Given the description of an element on the screen output the (x, y) to click on. 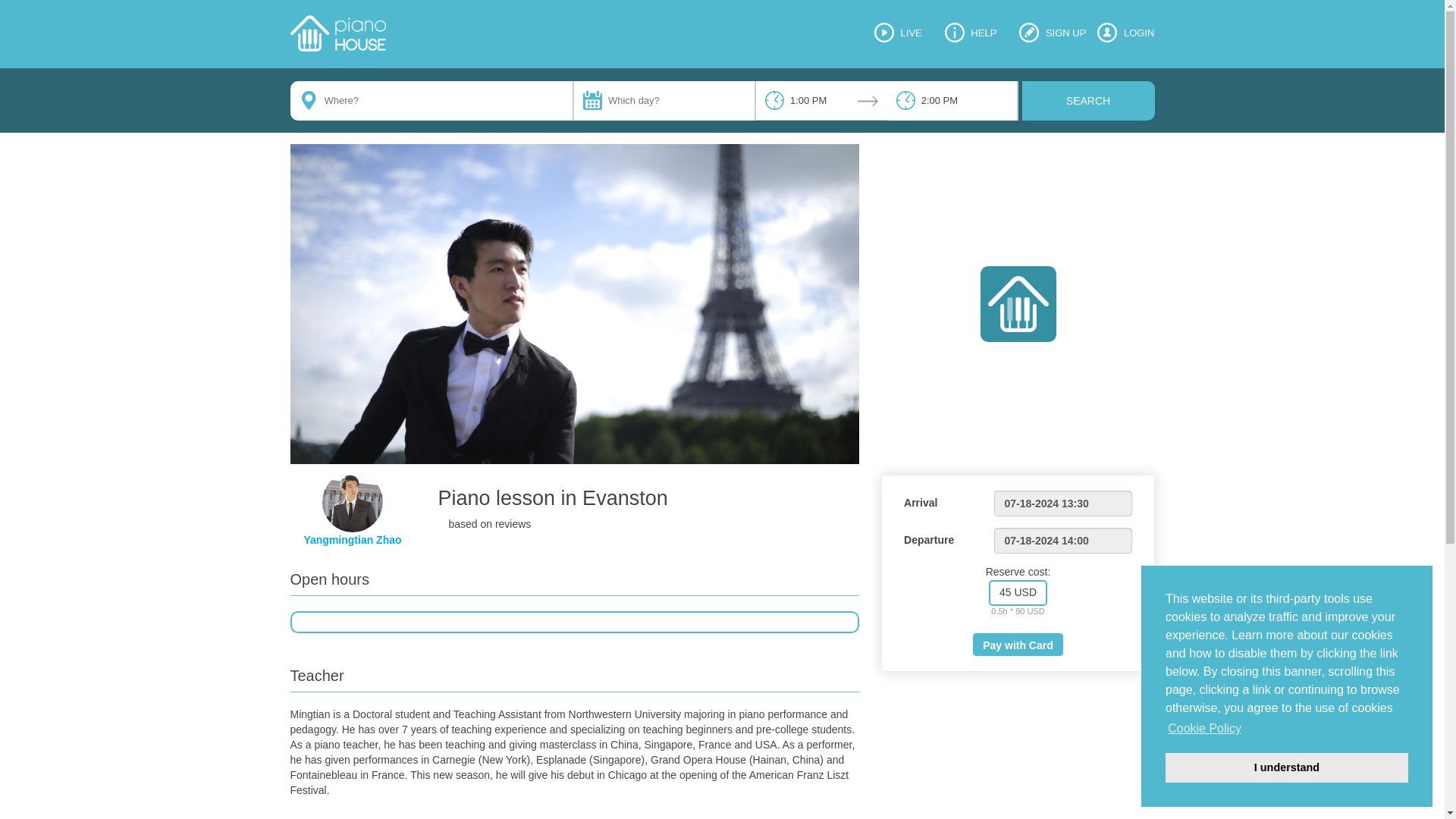
07-18-2024 14:00 (1062, 540)
Pay with Card (1017, 644)
SIGN UP (1052, 33)
Pay with Card (1017, 644)
HELP (971, 33)
1:00 PM (820, 100)
Main page (337, 33)
I understand (1286, 767)
Yangmingtian Zhao (351, 539)
07-18-2024 13:30 (1062, 503)
Cookie Policy (1204, 728)
2:00 PM (951, 100)
LOGIN (1125, 33)
LIVE (898, 33)
